Given the description of an element on the screen output the (x, y) to click on. 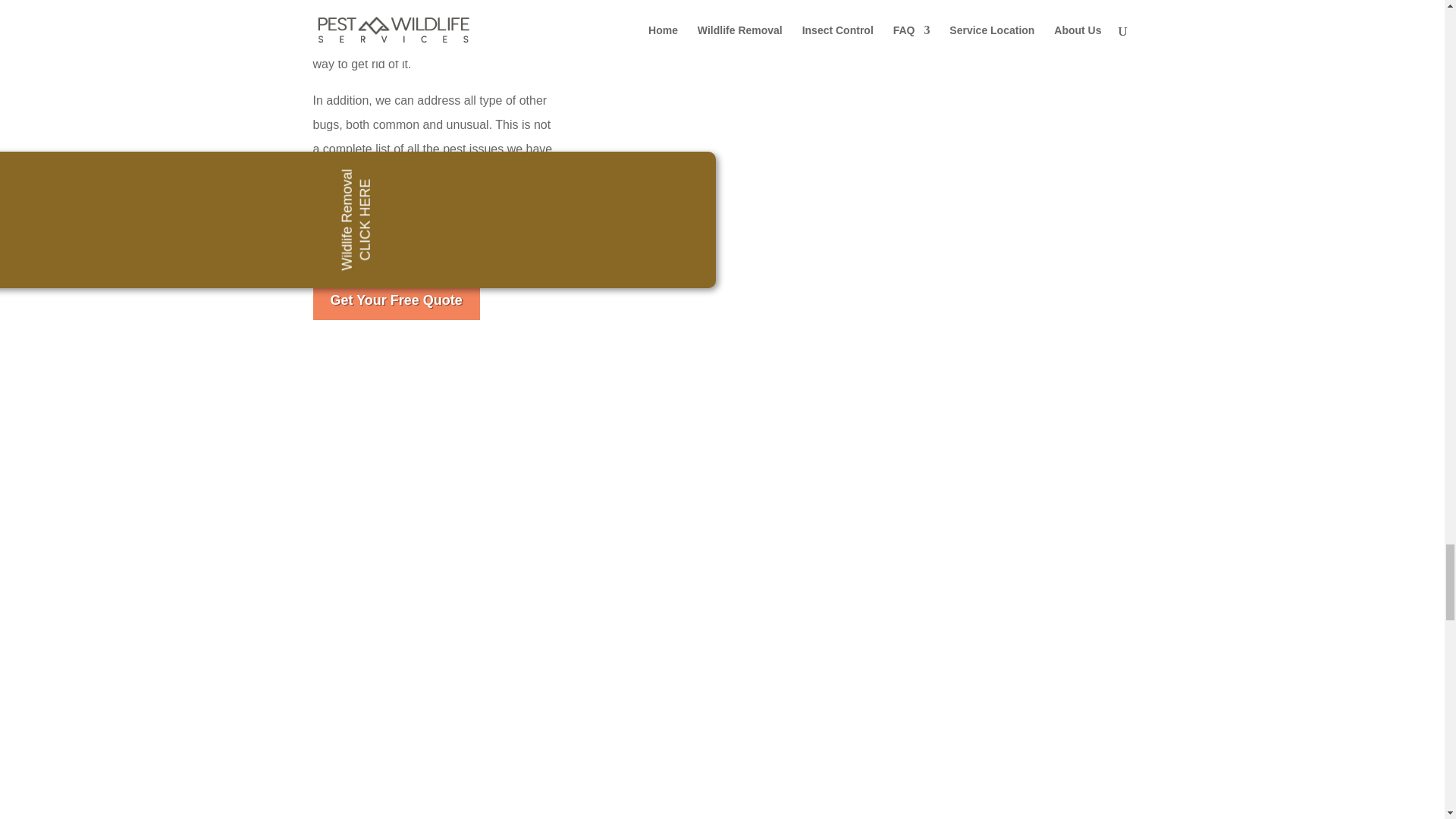
Get Your Free Quote (396, 299)
